Given the description of an element on the screen output the (x, y) to click on. 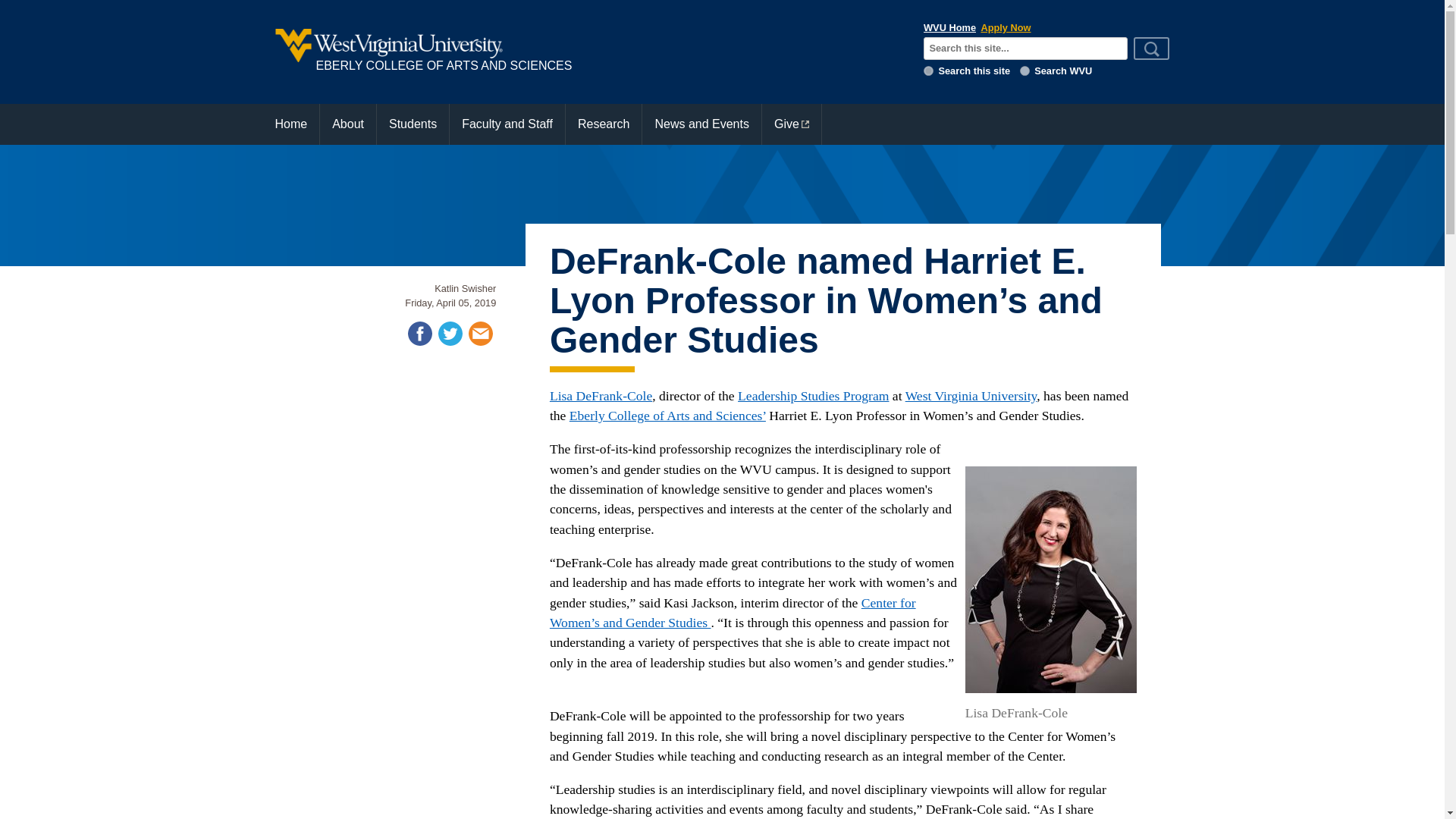
eberly.wvu.edu (928, 71)
Students (412, 124)
News and Events (701, 124)
wvu.edu (1024, 71)
WVU Home (949, 27)
Research (604, 124)
West Virginia University (970, 395)
Search (1152, 47)
Apply Now (1004, 27)
Lisa DeFrank-Cole (601, 395)
